Given the description of an element on the screen output the (x, y) to click on. 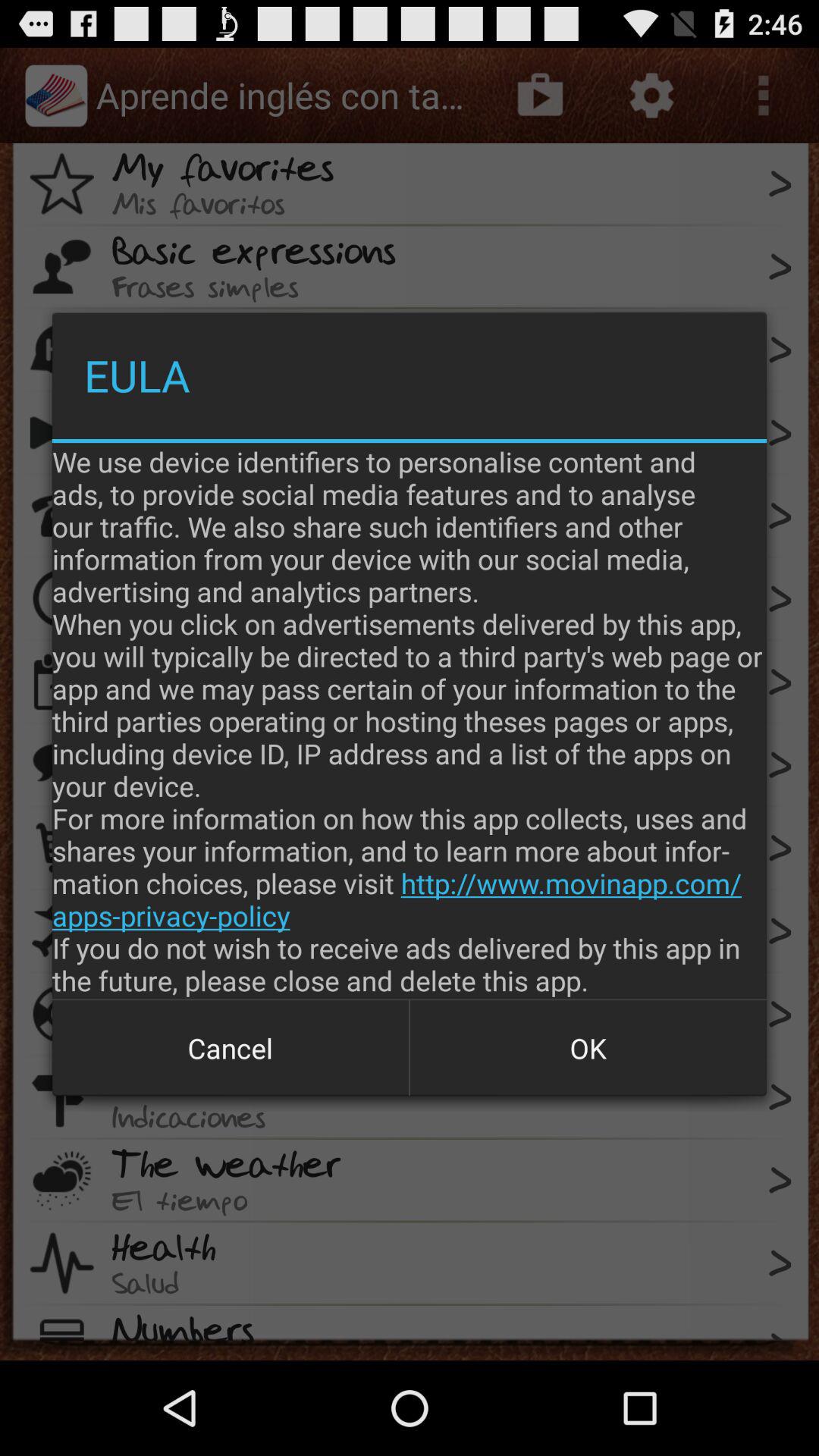
open icon at the bottom right corner (588, 1047)
